Given the description of an element on the screen output the (x, y) to click on. 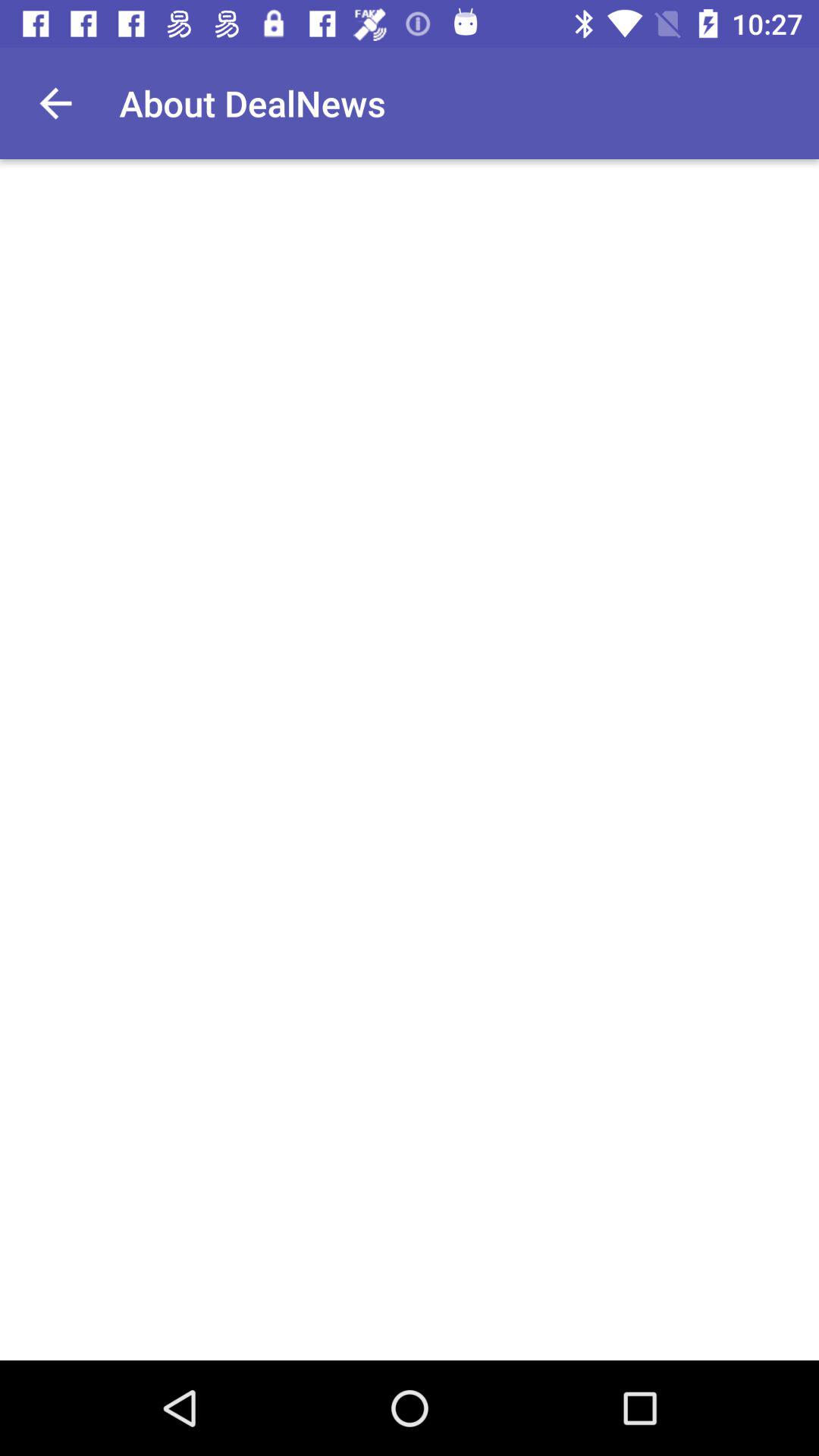
choose the item at the center (409, 759)
